Given the description of an element on the screen output the (x, y) to click on. 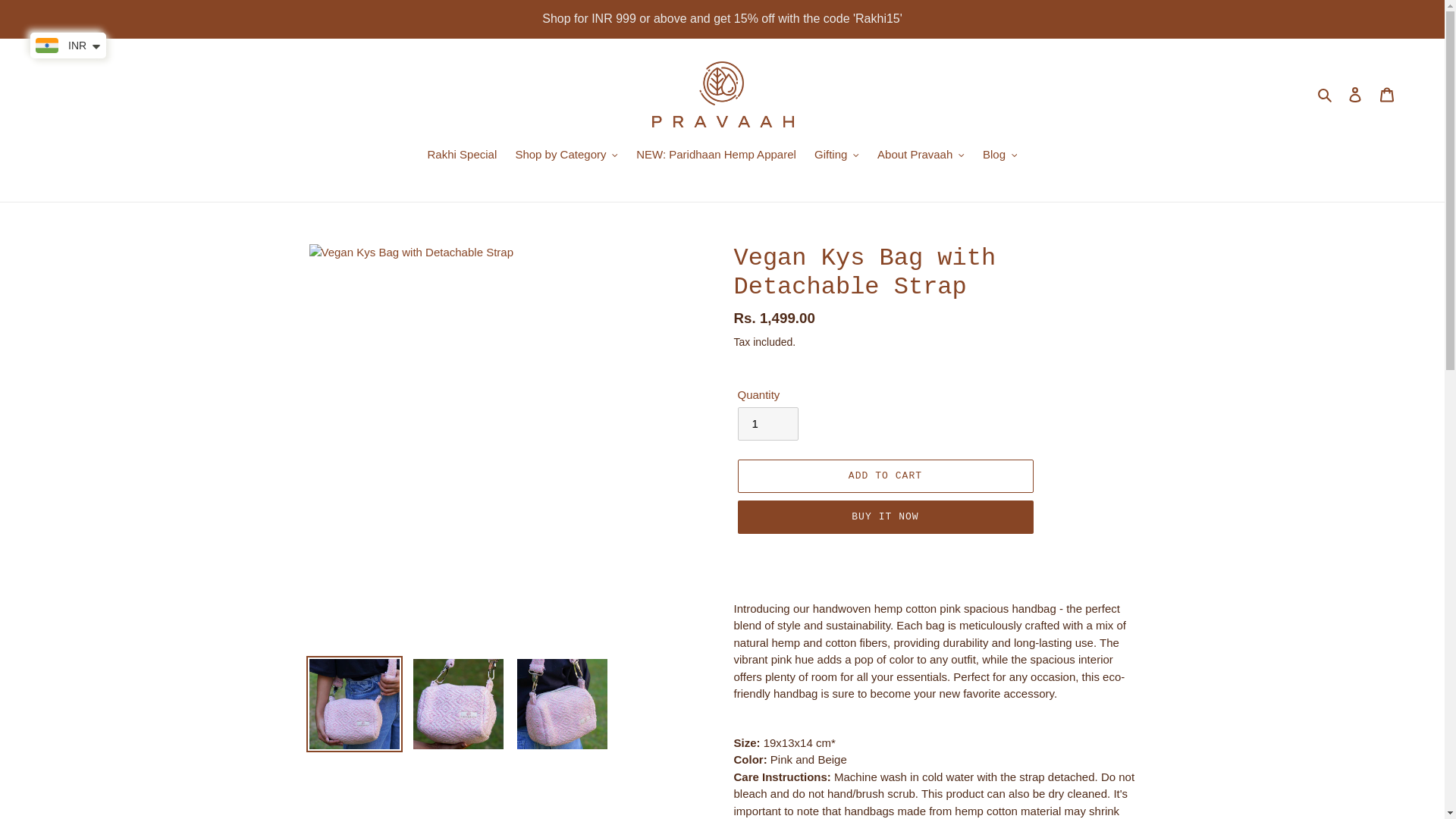
Search (1326, 94)
Cart (1387, 93)
Log in (1355, 93)
1 (766, 423)
